Given the description of an element on the screen output the (x, y) to click on. 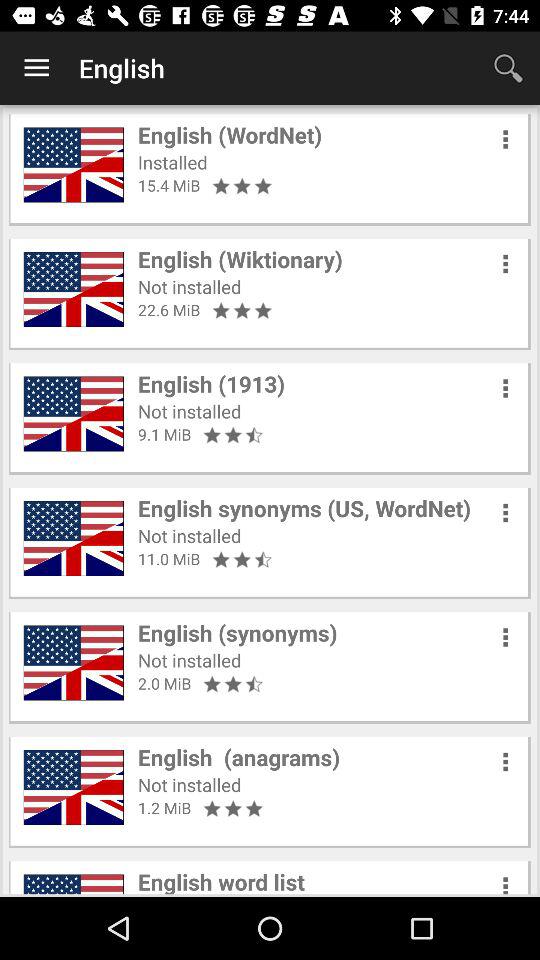
choose the 15.4 mib icon (169, 185)
